Given the description of an element on the screen output the (x, y) to click on. 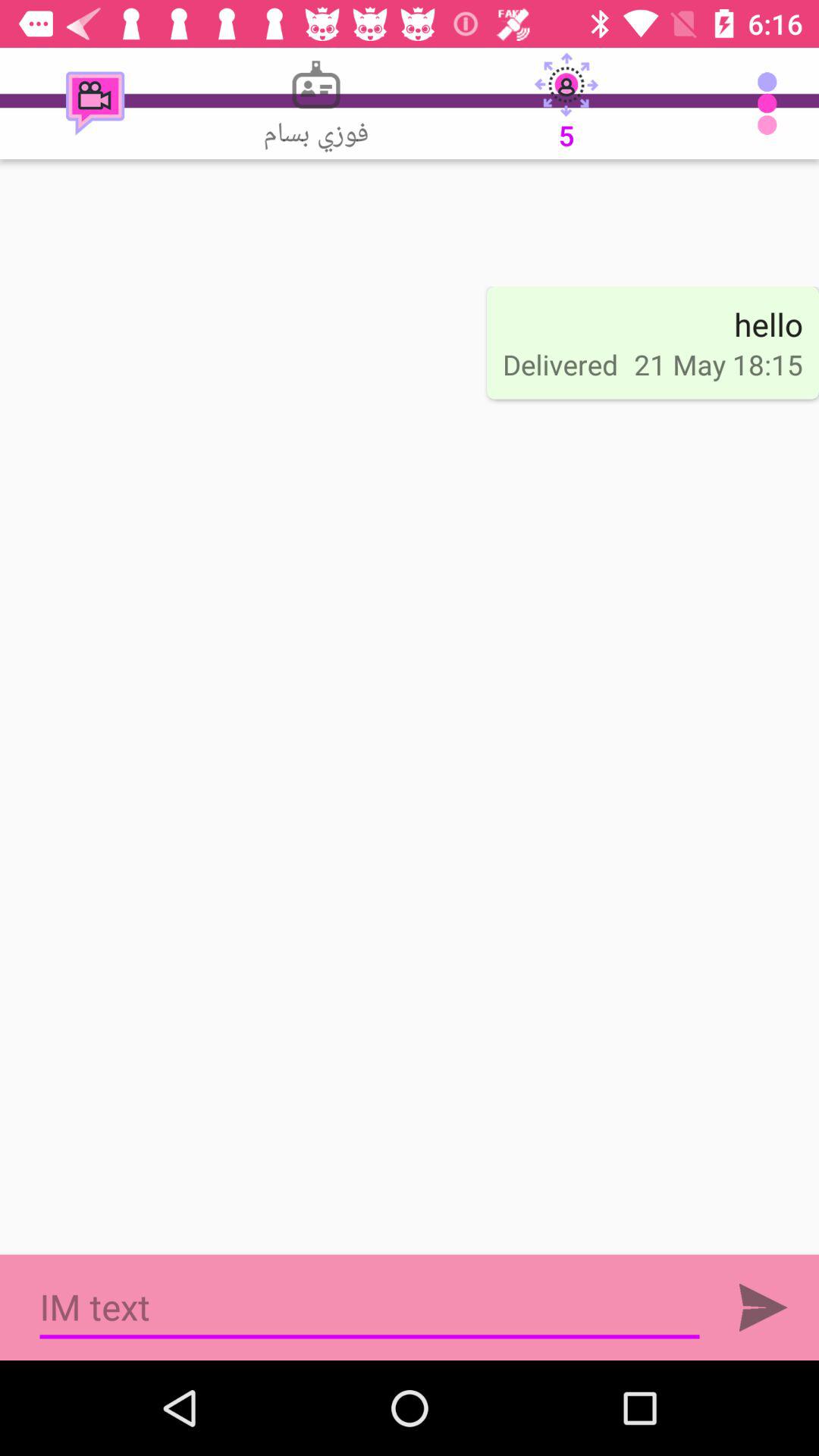
text enter option (763, 1307)
